Given the description of an element on the screen output the (x, y) to click on. 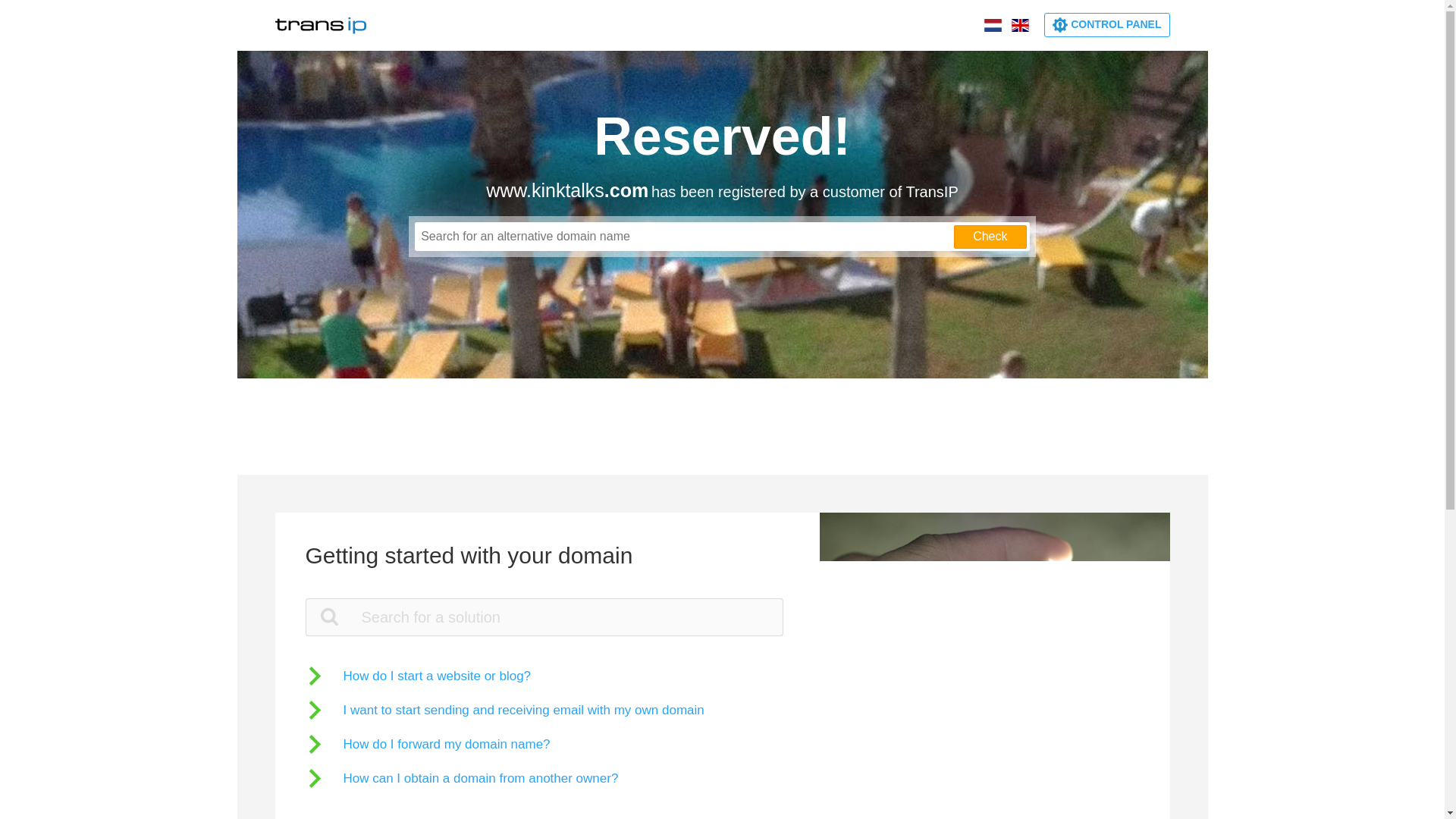
How do I start a website or blog? (417, 675)
Check (989, 236)
How do I forward my domain name? (427, 743)
CONTROL PANEL (1106, 24)
How can I obtain a domain from another owner? (460, 778)
